Given the description of an element on the screen output the (x, y) to click on. 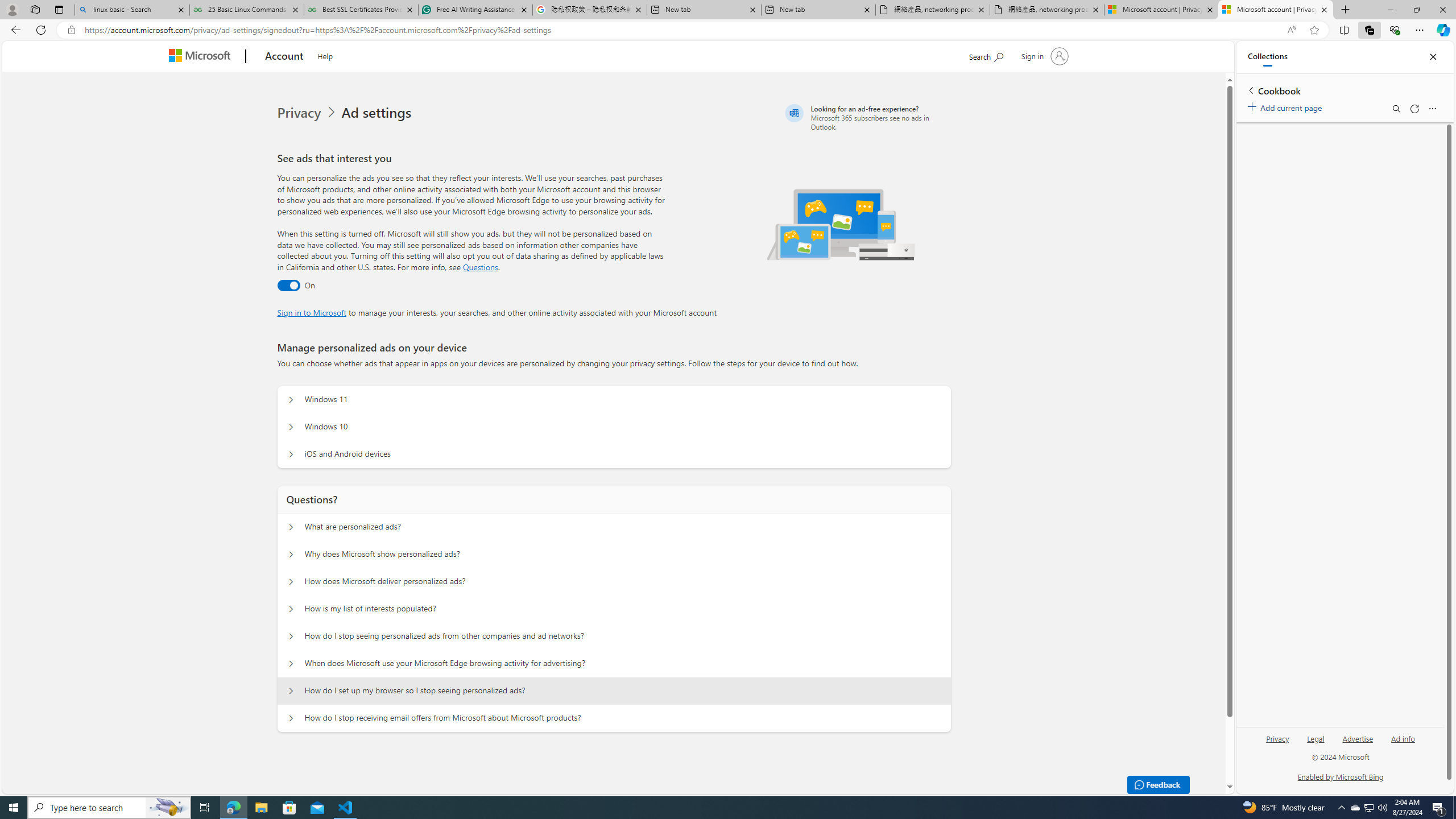
Go to Questions section (480, 266)
Ad info (1402, 742)
Advertise (1357, 738)
Questions? Why does Microsoft show personalized ads? (290, 554)
Account (283, 56)
Manage personalized ads on your device Windows 11 (290, 400)
25 Basic Linux Commands For Beginners - GeeksforGeeks (246, 9)
